Given the description of an element on the screen output the (x, y) to click on. 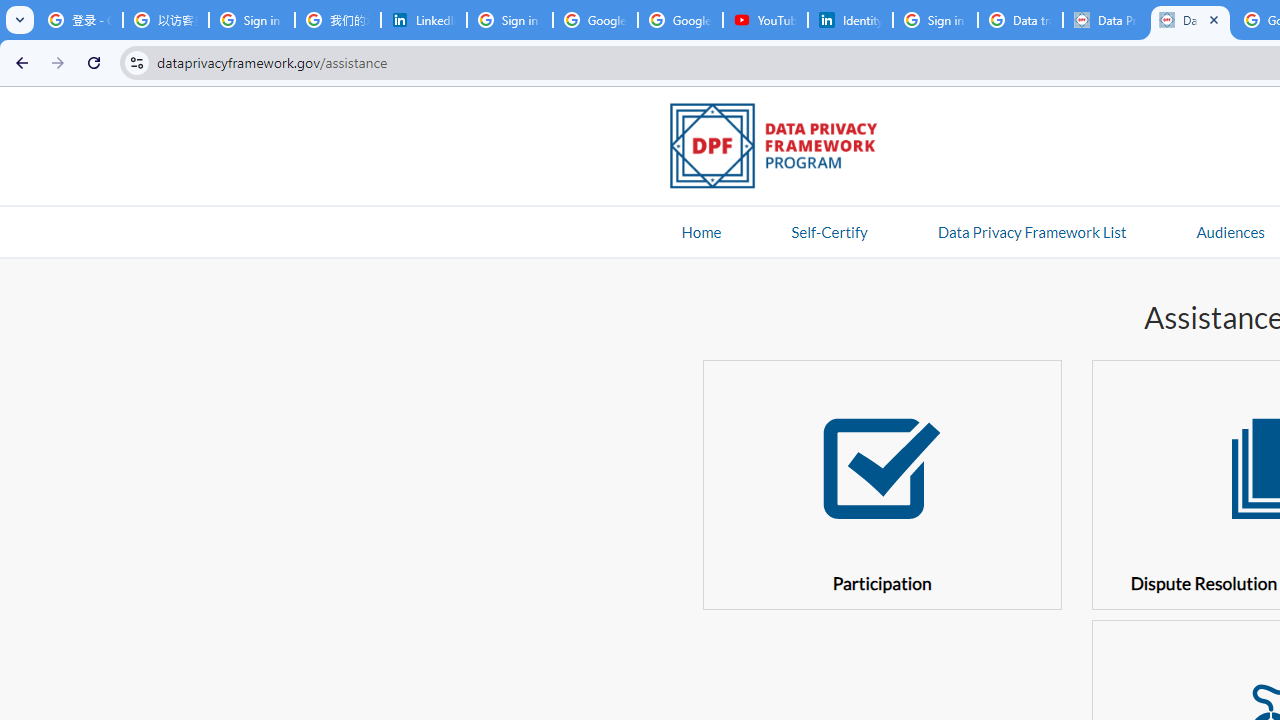
Data Privacy Framework (1190, 20)
